Given the description of an element on the screen output the (x, y) to click on. 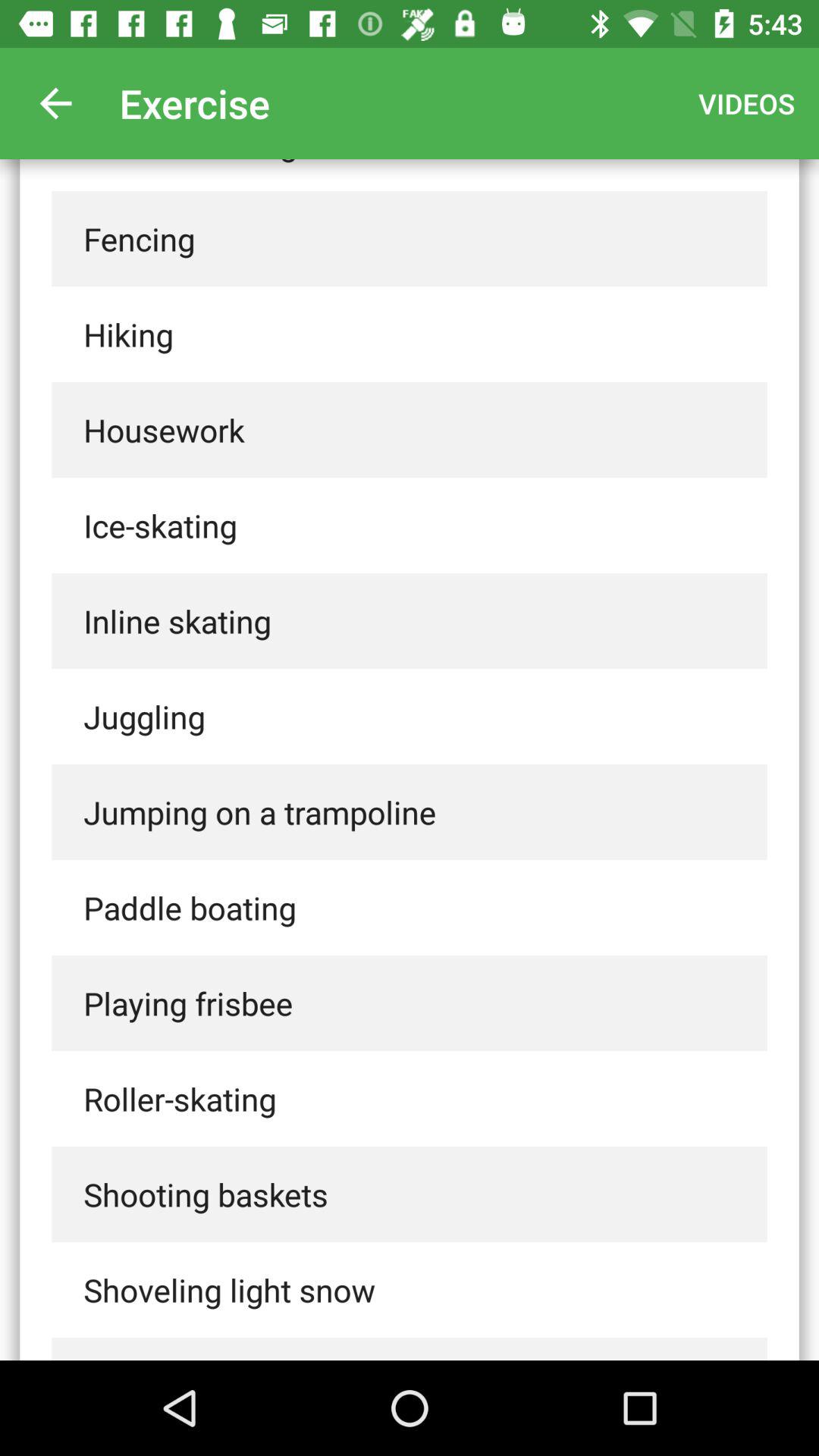
choose item above the downhill skiing icon (55, 103)
